Given the description of an element on the screen output the (x, y) to click on. 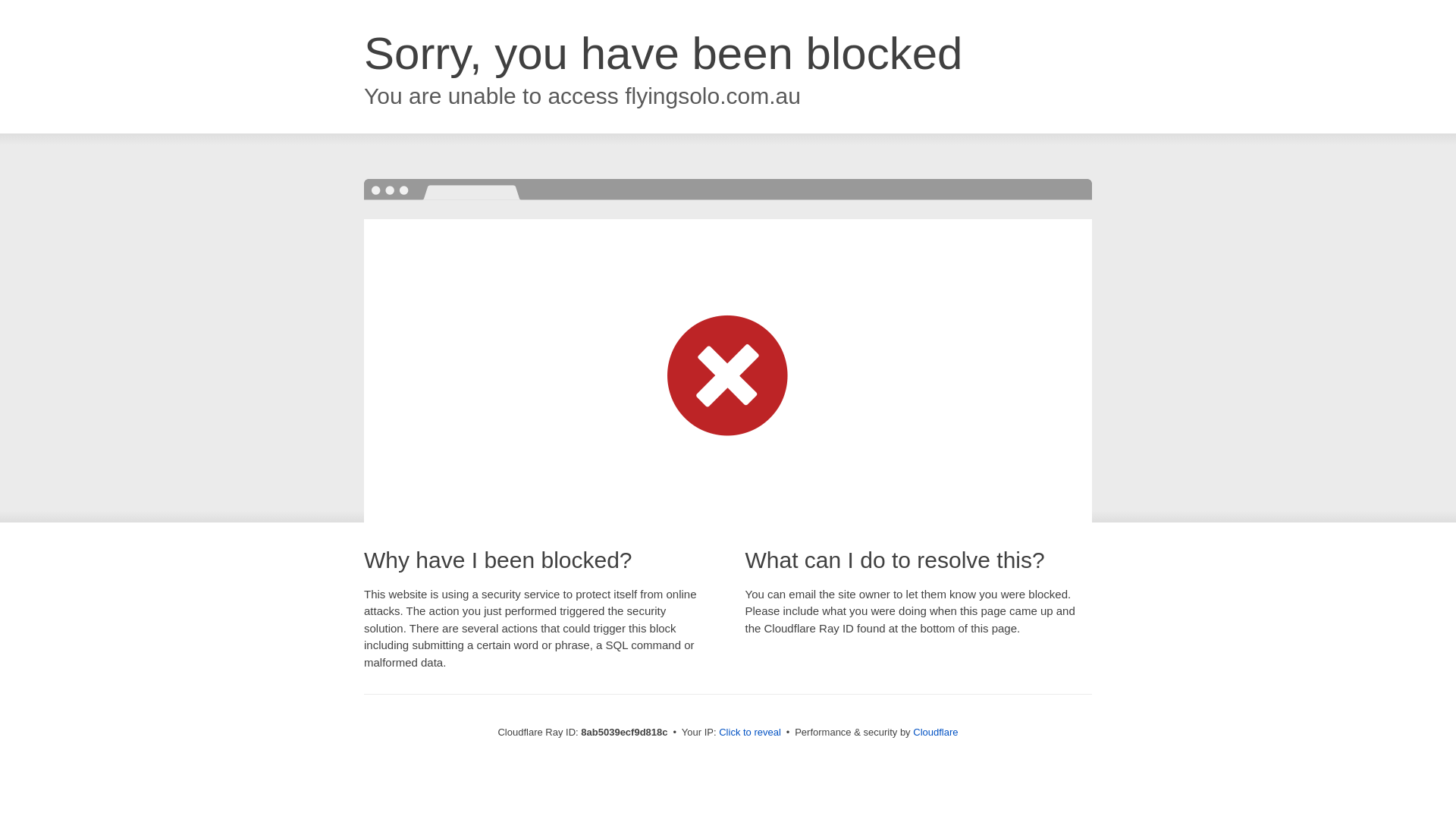
Cloudflare (935, 731)
Click to reveal (749, 732)
